Given the description of an element on the screen output the (x, y) to click on. 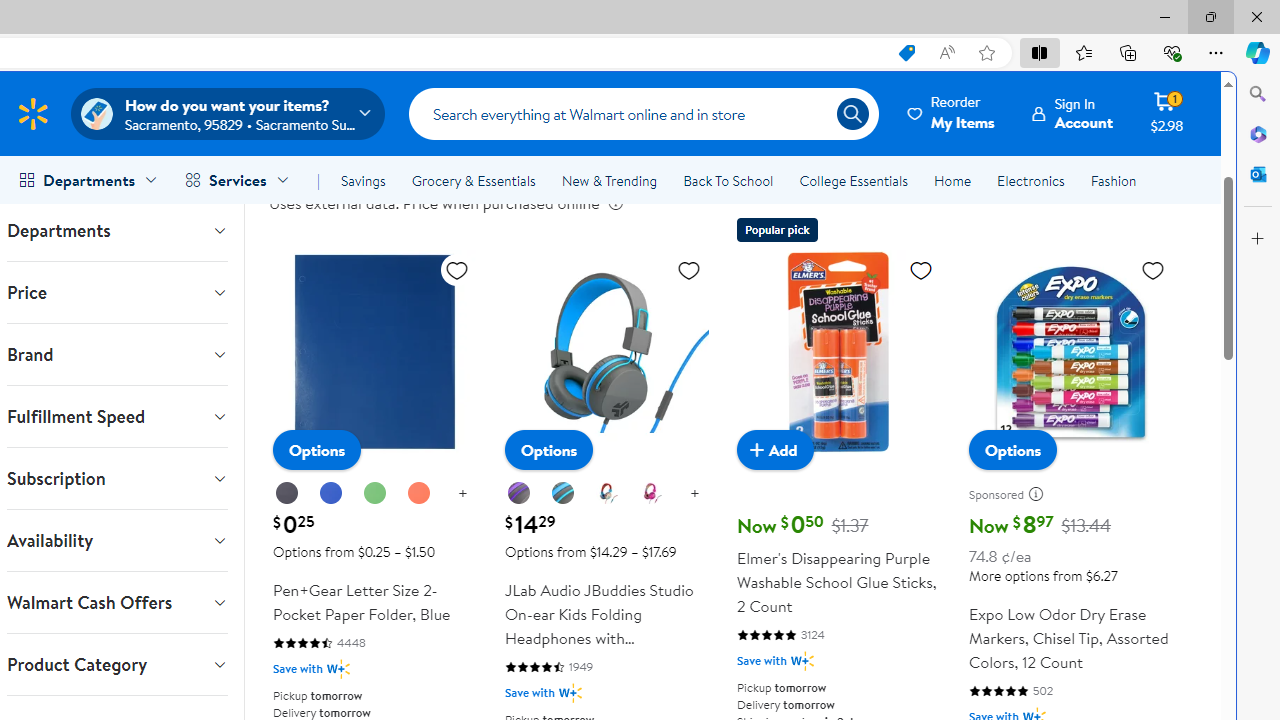
Savings (363, 180)
Next slide for chipModuleWithImages list (1180, 52)
Cart contains 1 item Total Amount $2.98 (1166, 113)
Search icon (852, 113)
Pink (650, 493)
Blue (330, 493)
Gray (562, 493)
Grocery & Essentials (473, 180)
Back To School (728, 180)
